Given the description of an element on the screen output the (x, y) to click on. 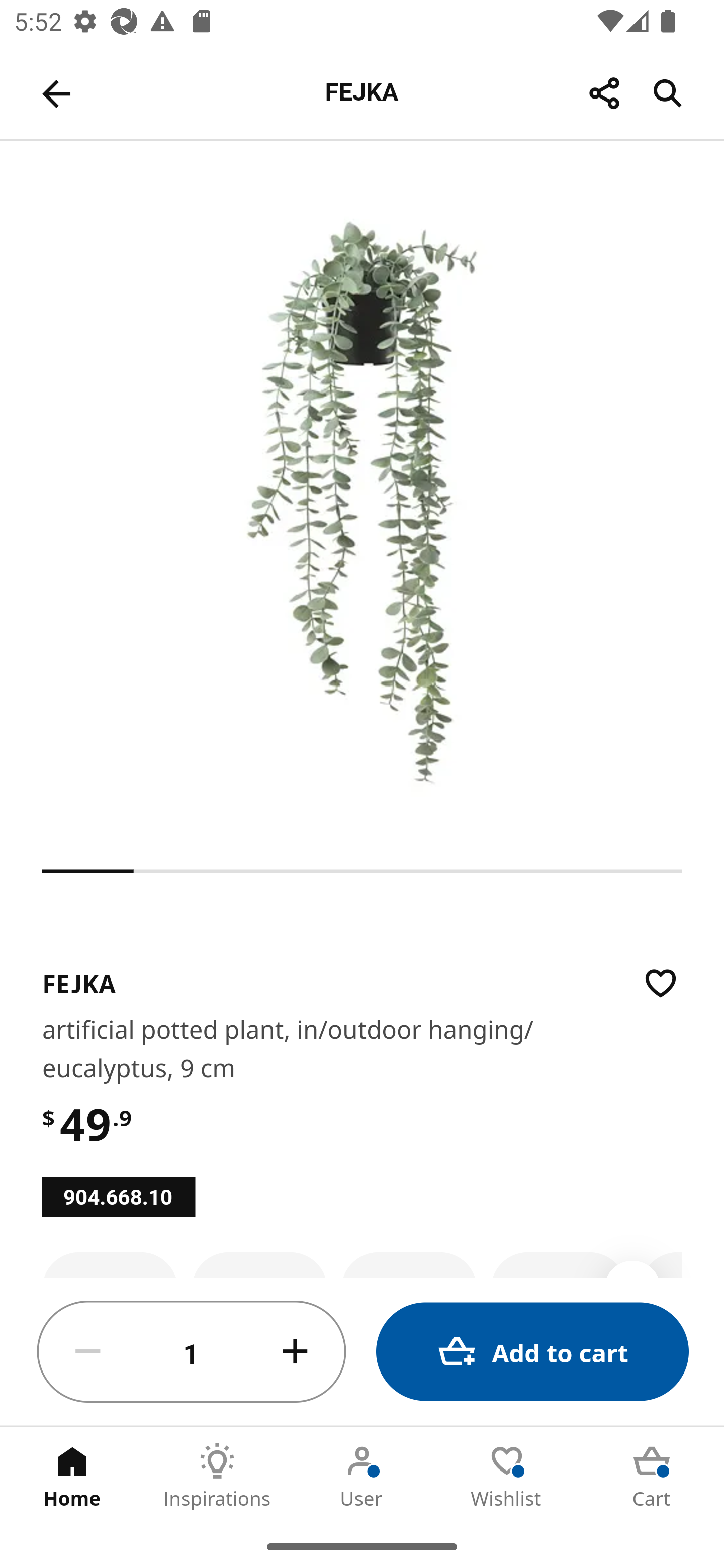
Add to cart (531, 1352)
1 (191, 1352)
Home
Tab 1 of 5 (72, 1476)
Inspirations
Tab 2 of 5 (216, 1476)
User
Tab 3 of 5 (361, 1476)
Wishlist
Tab 4 of 5 (506, 1476)
Cart
Tab 5 of 5 (651, 1476)
